Given the description of an element on the screen output the (x, y) to click on. 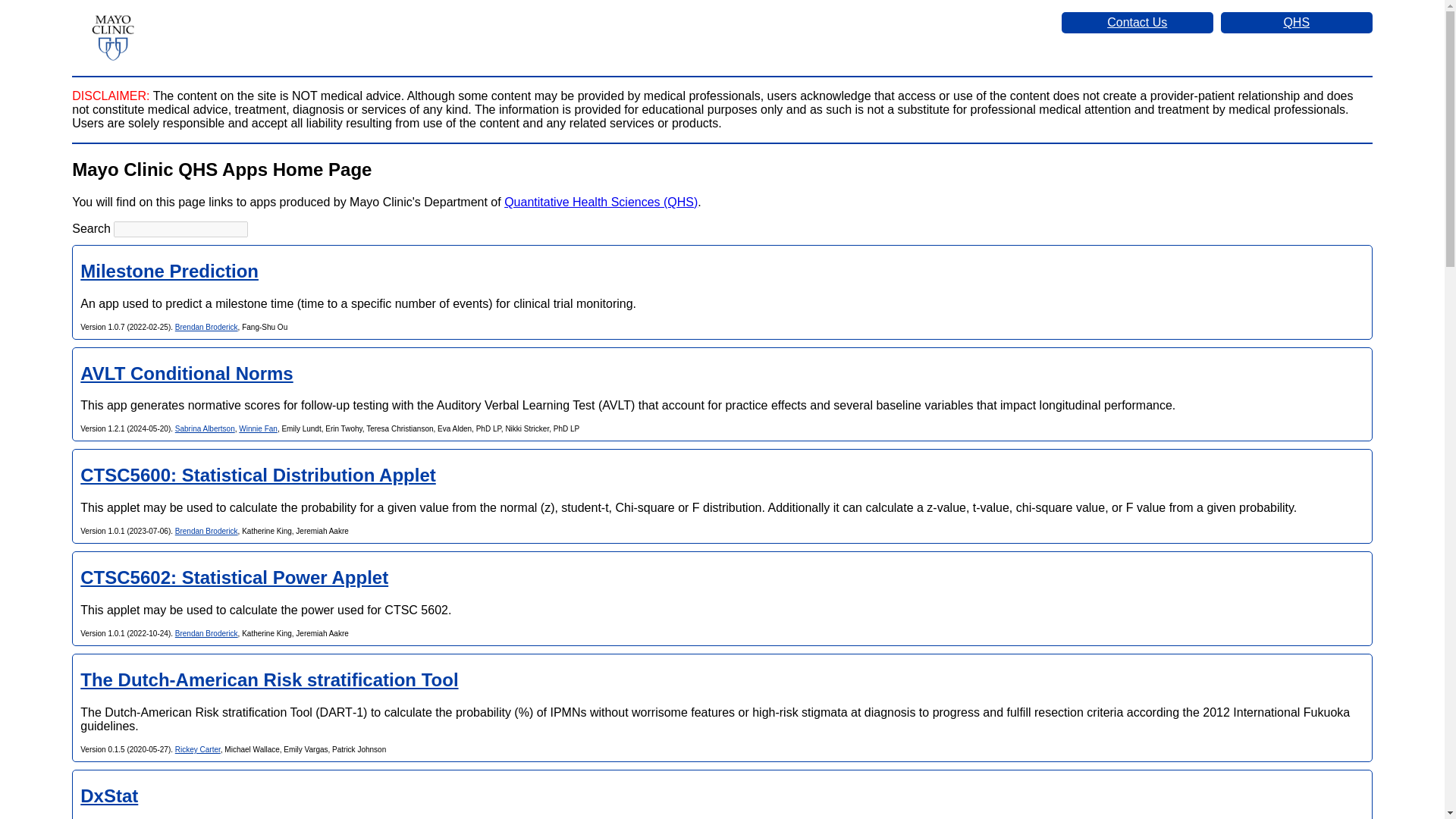
DxStat (109, 795)
Contact Us (1136, 22)
AVLT Conditional Norms (186, 373)
Milestone Prediction (169, 271)
CTSC5600: Statistical Distribution Applet (257, 475)
Rickey Carter (197, 749)
Brendan Broderick (206, 633)
Sabrina Albertson (204, 429)
The Dutch-American Risk stratification Tool (269, 679)
Brendan Broderick (206, 531)
